Given the description of an element on the screen output the (x, y) to click on. 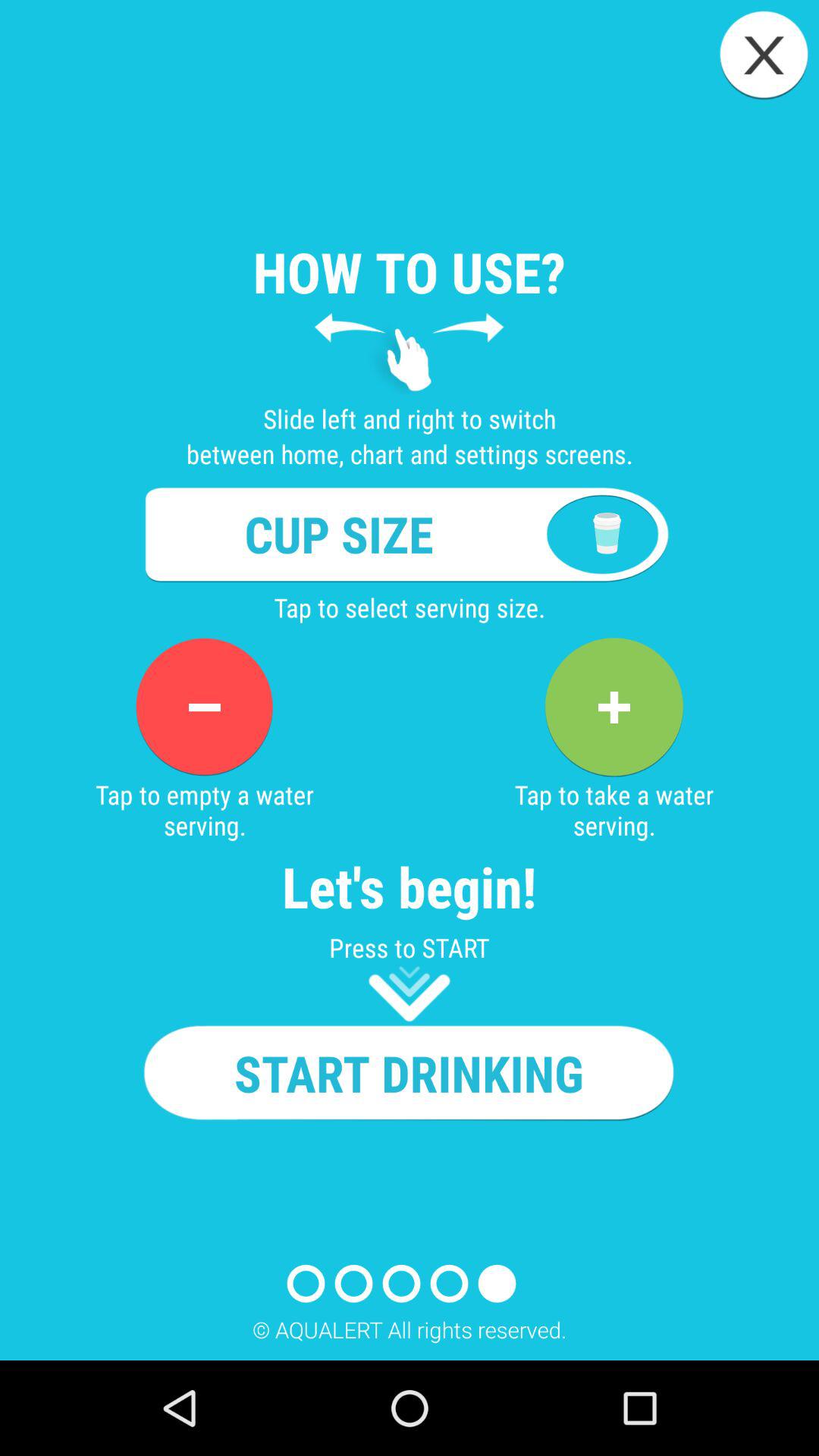
click the icon below tap to select item (204, 706)
